Given the description of an element on the screen output the (x, y) to click on. 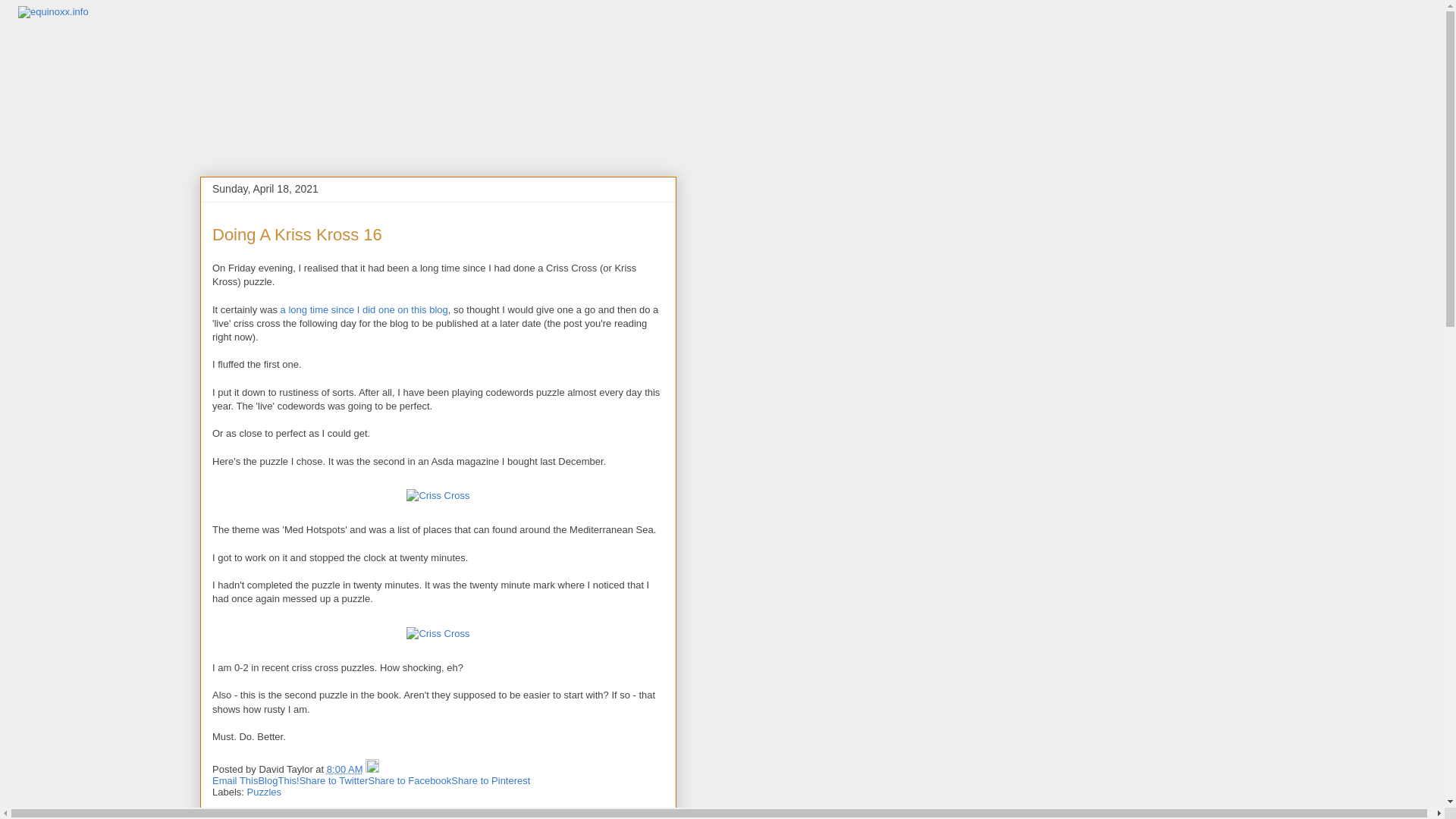
Share to Twitter (333, 780)
Email This (234, 780)
Criss Cross (437, 495)
permanent link (344, 768)
BlogThis! (277, 780)
Share to Pinterest (490, 780)
Share to Pinterest (490, 780)
Criss Cross (437, 633)
BlogThis! (277, 780)
Email This (234, 780)
8:00 AM (344, 768)
Edit Post (371, 768)
Share to Twitter (333, 780)
Share to Facebook (409, 780)
a long time since I did one on this blog (364, 309)
